Given the description of an element on the screen output the (x, y) to click on. 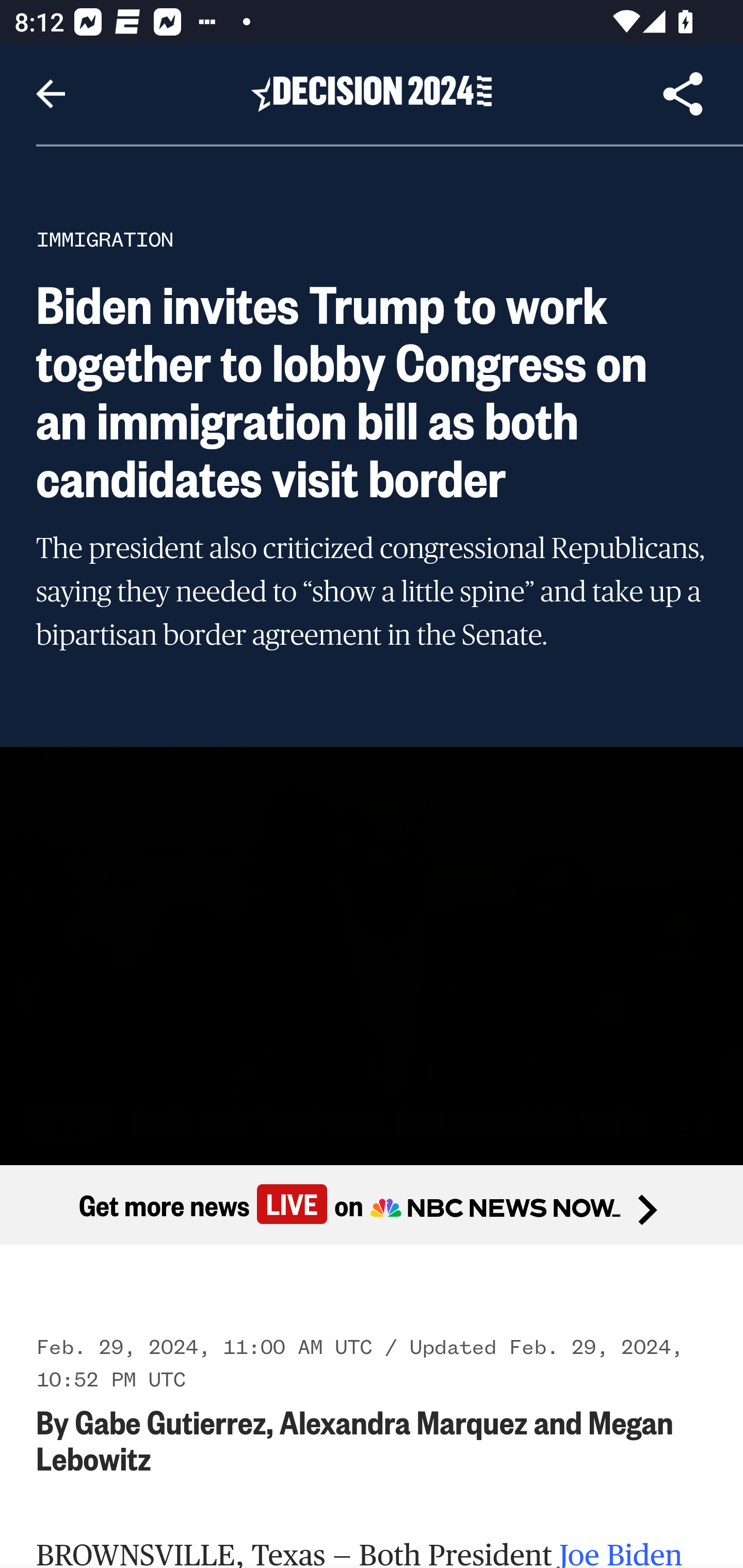
Navigate up (50, 93)
Share Article, button (683, 94)
Header, Decision 2024 (371, 93)
IMMIGRATION (105, 239)
Get more news Live on Get more news Live on (371, 1203)
Megan Lebowitz (355, 1439)
Joe Biden (620, 1553)
